Given the description of an element on the screen output the (x, y) to click on. 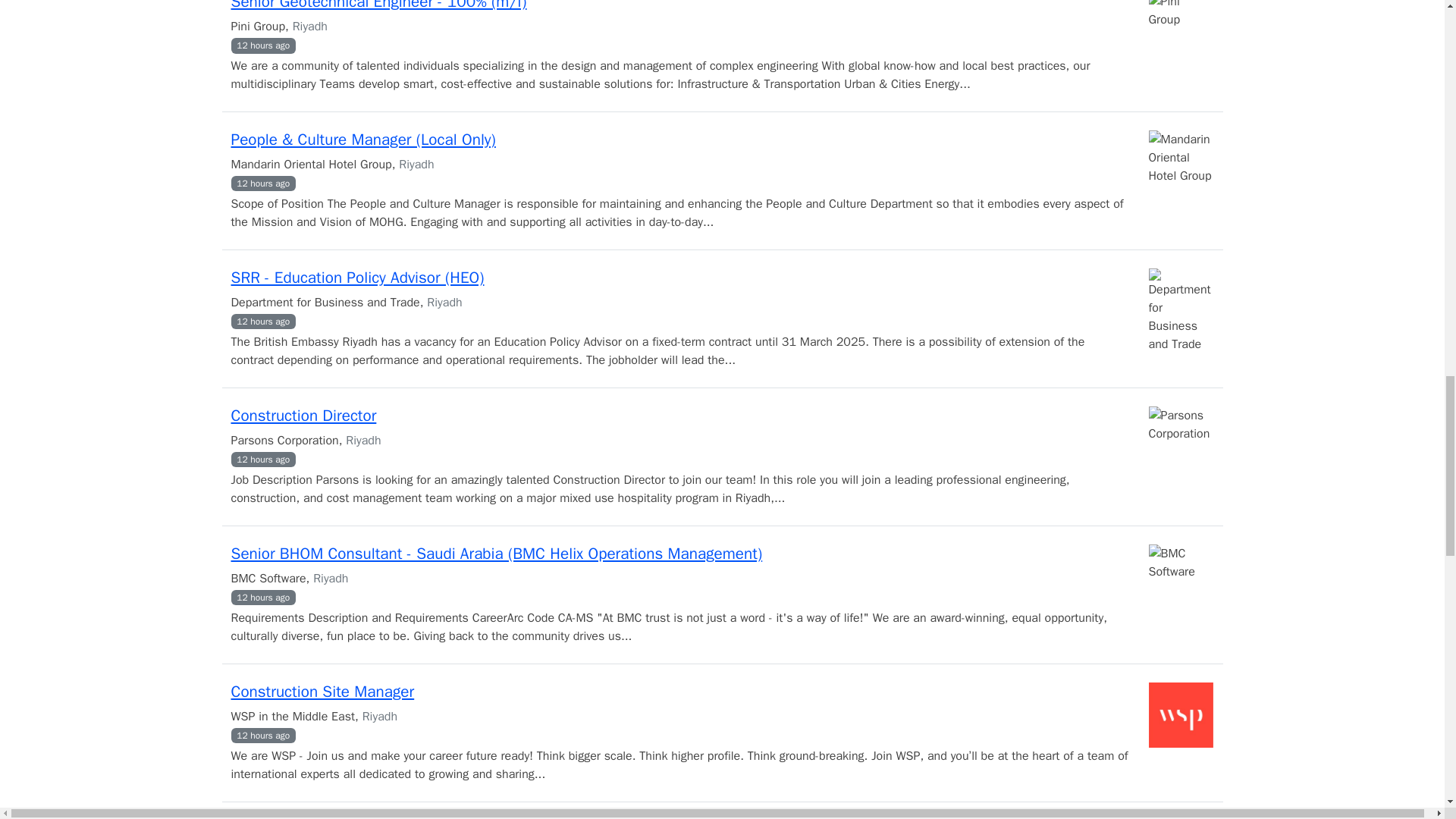
Construction Site Manager (321, 691)
Construction Director (302, 415)
